Given the description of an element on the screen output the (x, y) to click on. 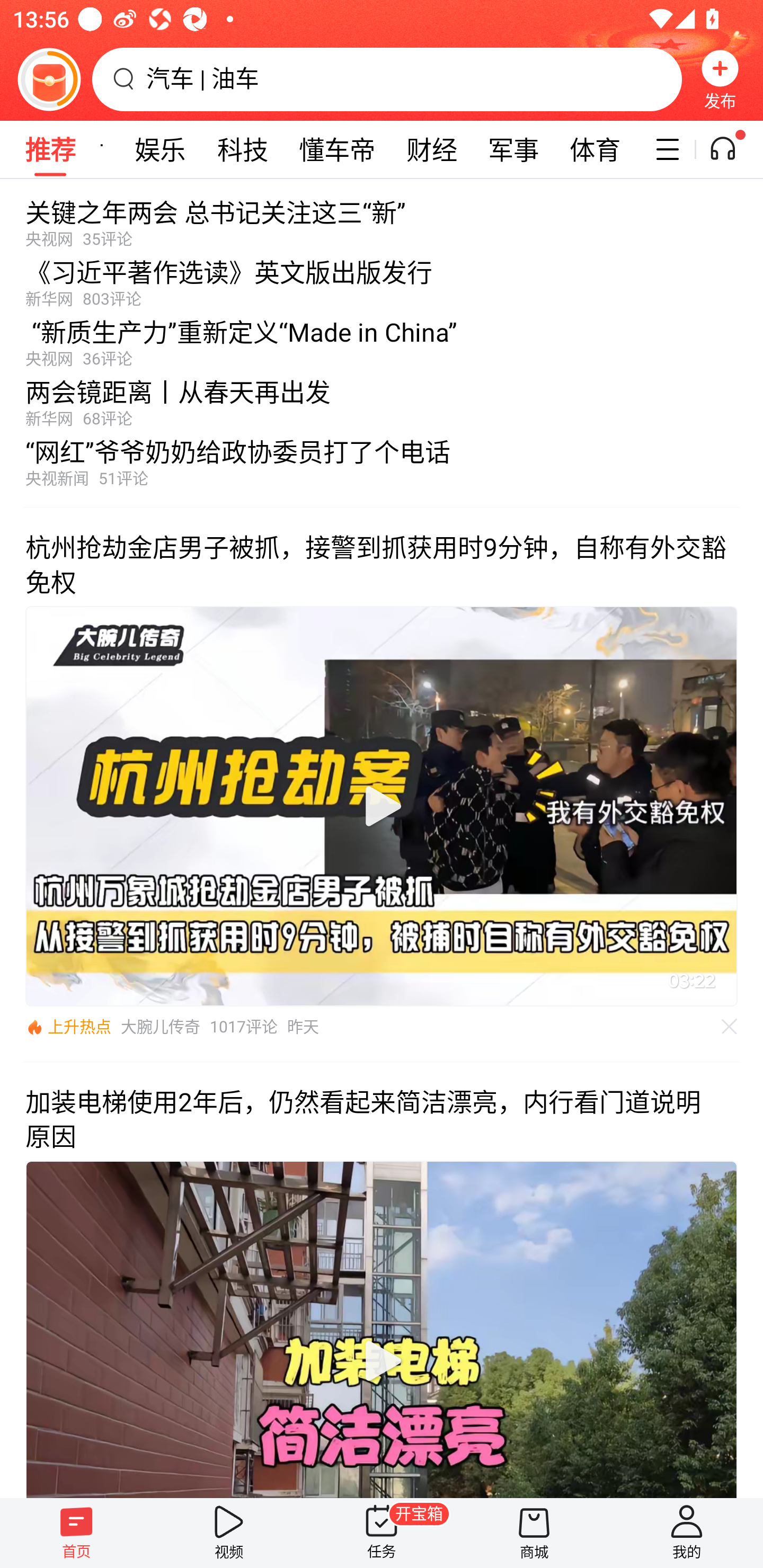
阅读赚金币 (48, 79)
汽车 | 油车 搜索框，汽车 | 油车 (387, 79)
发布 发布，按钮 (720, 78)
推荐 (49, 149)
娱乐 (160, 149)
科技 (242, 149)
懂车帝 (336, 149)
财经 (431, 149)
军事 (513, 149)
体育 (594, 149)
听一听开关 (732, 149)
两会镜距离丨从春天再出发新华网68评论 文章 两会镜距离丨从春天再出发 新华网68评论 (381, 398)
播放视频 视频播放器，双击屏幕打开播放控制 (381, 805)
播放视频 (381, 806)
不感兴趣 (729, 1026)
播放视频 视频播放器，双击屏幕打开播放控制 (381, 1328)
播放视频 (381, 1360)
首页 (76, 1532)
视频 (228, 1532)
任务 开宝箱 (381, 1532)
商城 (533, 1532)
我的 (686, 1532)
